Given the description of an element on the screen output the (x, y) to click on. 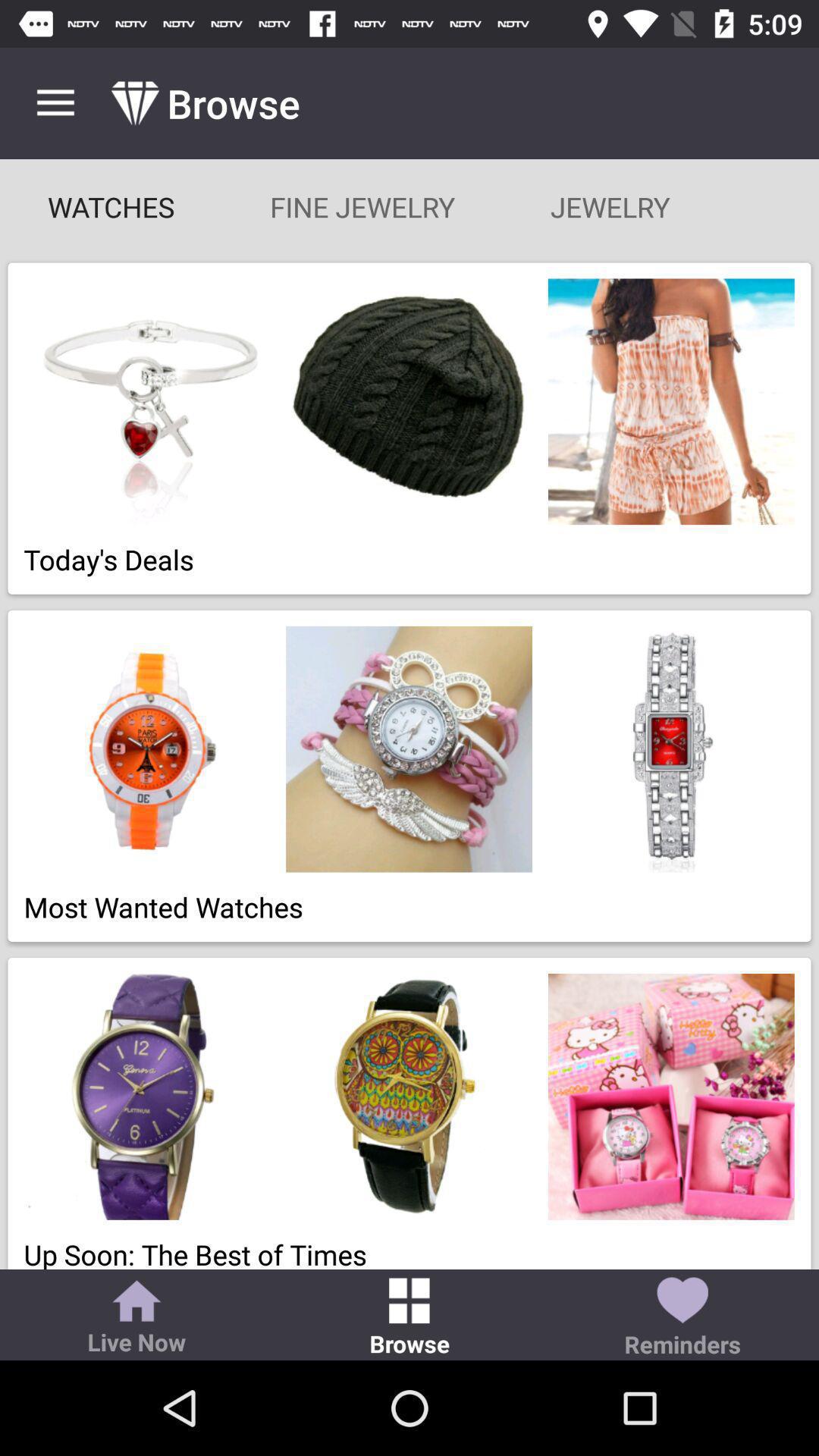
jump until the reminders icon (682, 1318)
